Given the description of an element on the screen output the (x, y) to click on. 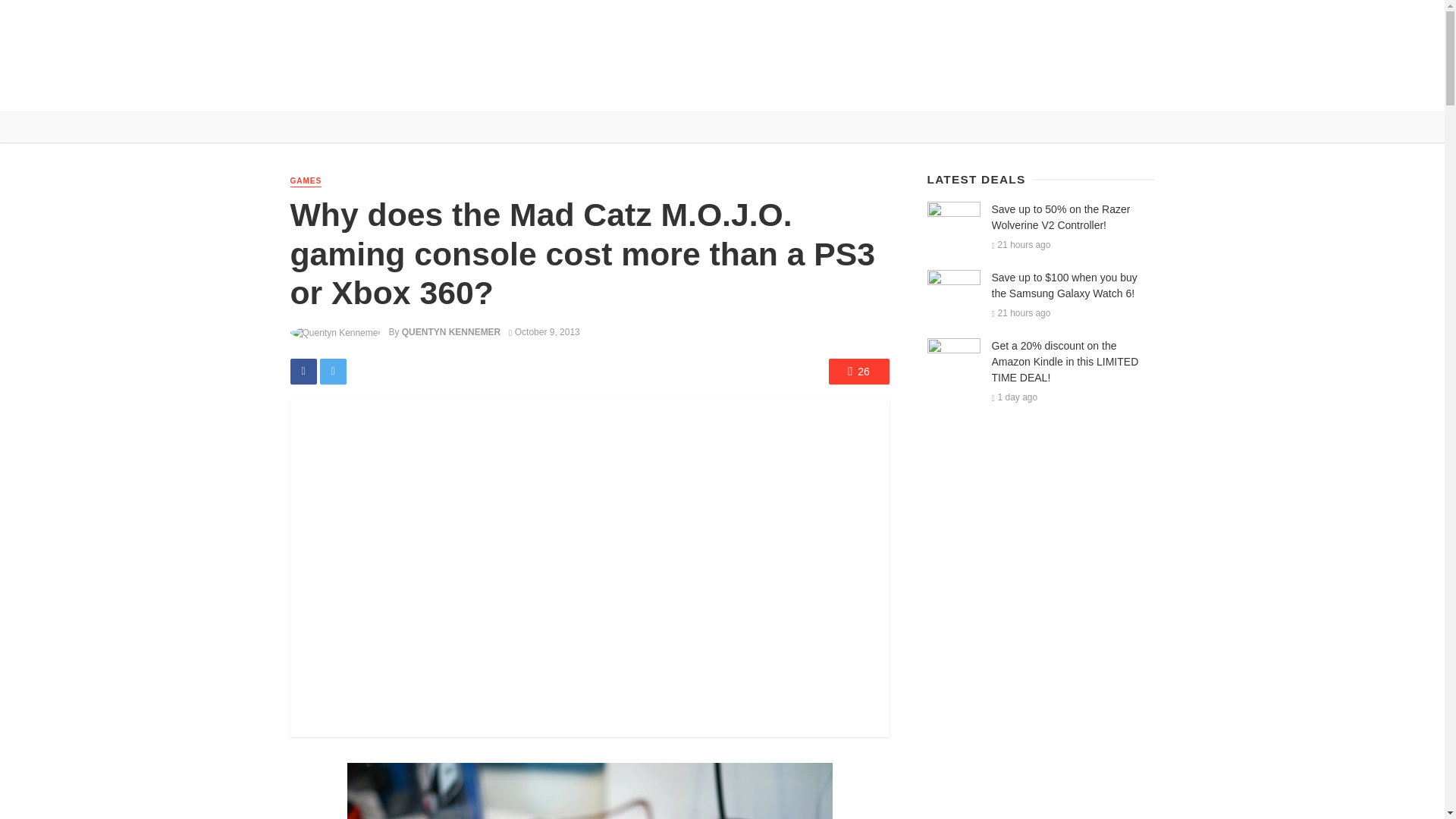
GAMES (305, 181)
26 (858, 371)
REVIEWS (398, 89)
OPINION (560, 89)
Share on Facebook (302, 371)
DEALS (452, 89)
NEWS (345, 89)
Share on Twitter (333, 371)
QUENTYN KENNEMER (450, 331)
HOW TO (504, 89)
